Given the description of an element on the screen output the (x, y) to click on. 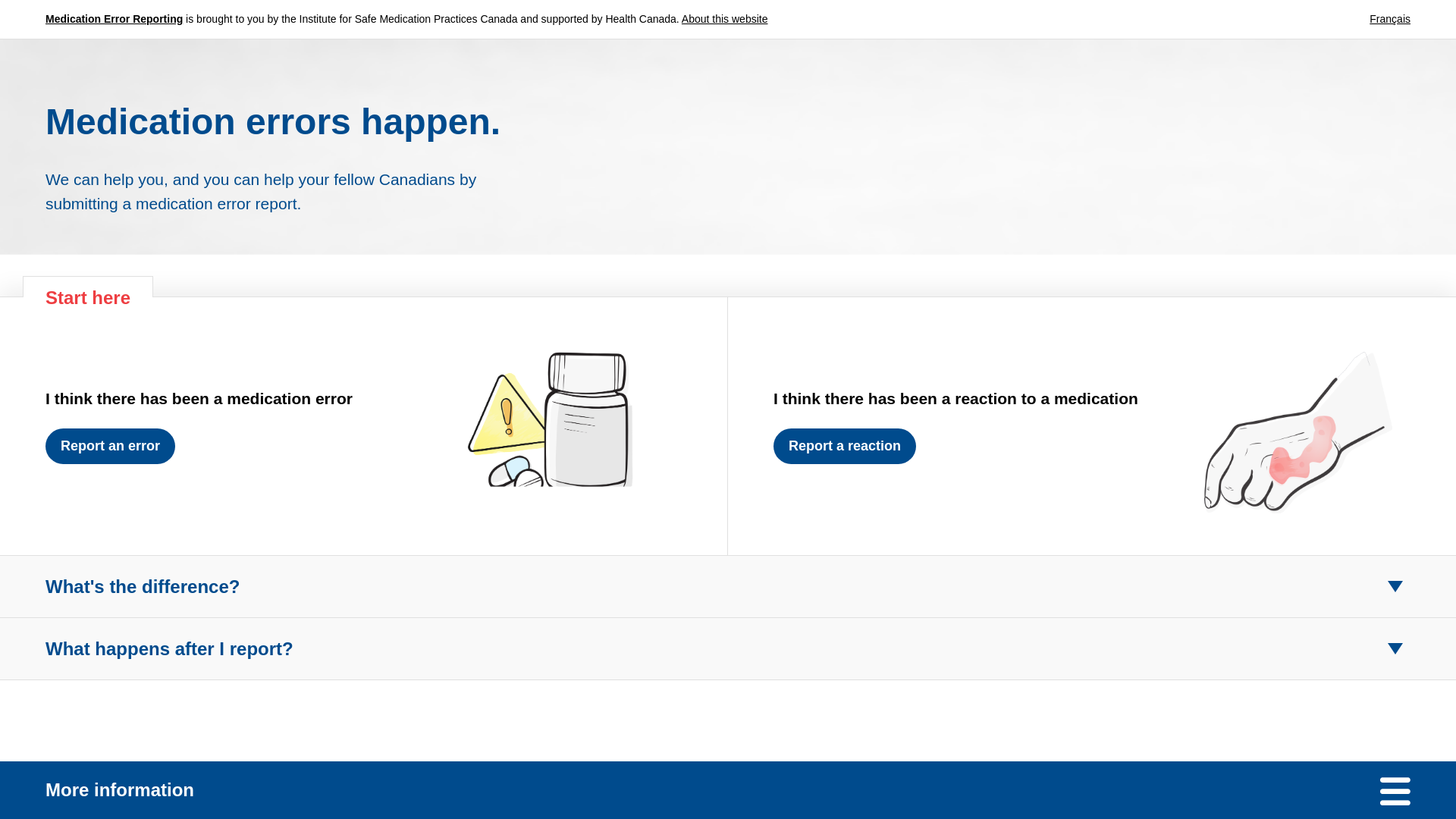
About this website (724, 19)
Report an error (109, 446)
Report a reaction (844, 446)
Medication Error Reporting (114, 19)
